Given the description of an element on the screen output the (x, y) to click on. 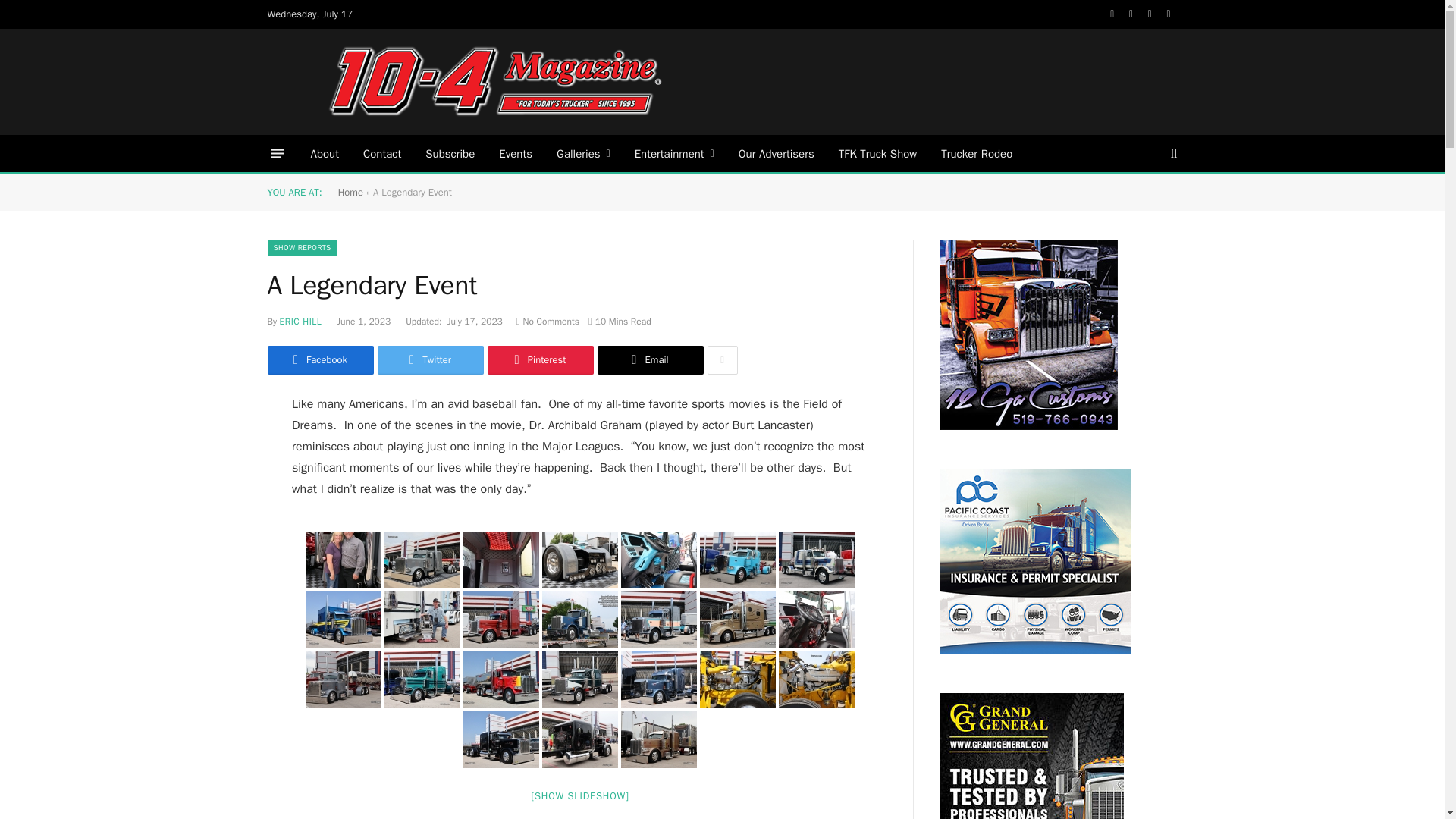
Posts by Eric Hill (300, 321)
Share via Email (649, 359)
Contact (381, 153)
Share on Facebook (319, 359)
No Comments (547, 321)
TFK Truck Show (877, 153)
Show More Social Sharing (721, 359)
Facebook (319, 359)
Entertainment (674, 153)
Home (349, 192)
Pinterest (539, 359)
Share on Pinterest (539, 359)
Our Advertisers (776, 153)
SHOW REPORTS (301, 247)
10-4 Magazine (494, 81)
